Given the description of an element on the screen output the (x, y) to click on. 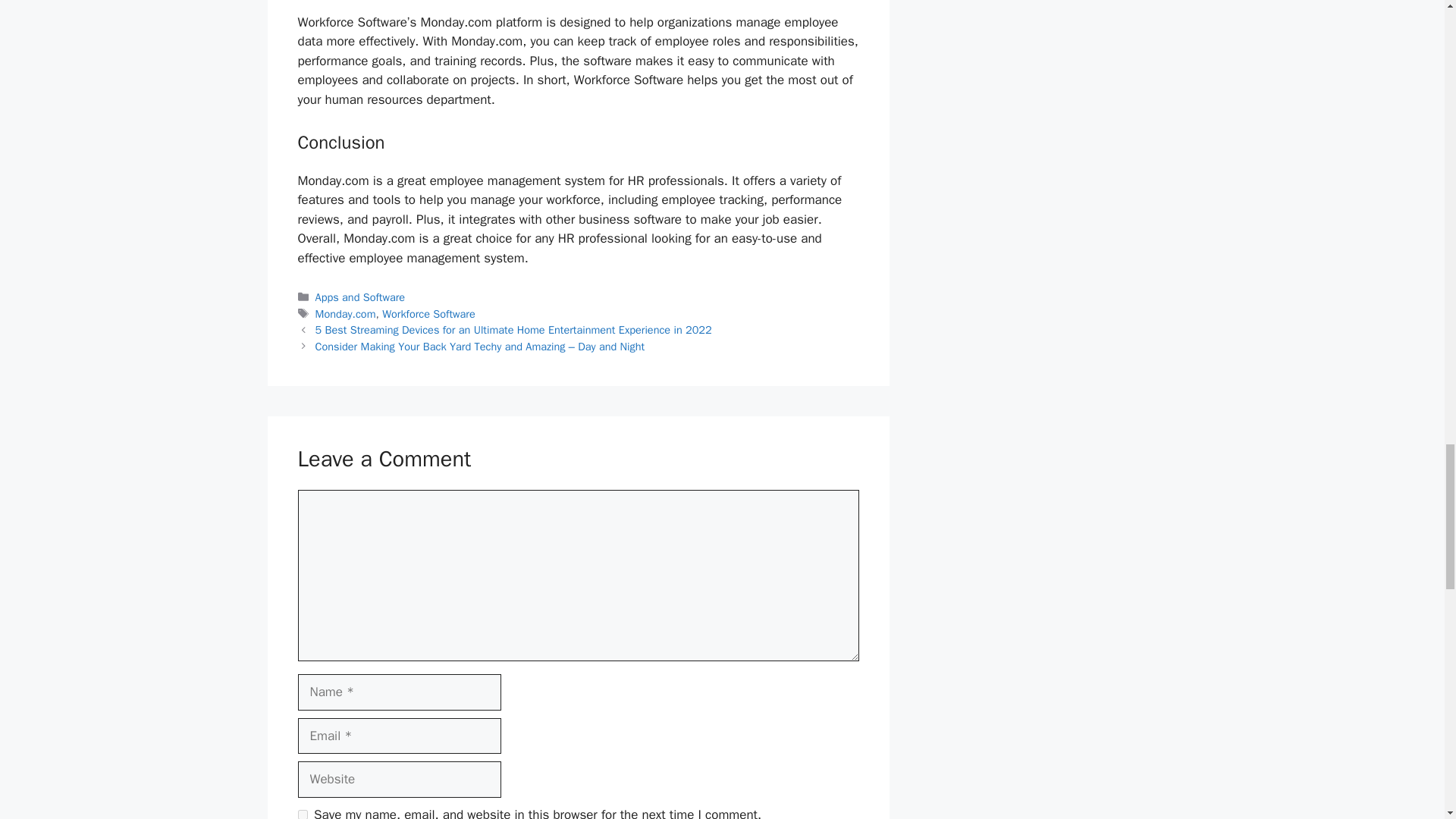
Apps and Software (360, 296)
Monday.com (345, 314)
Workforce Software (428, 314)
yes (302, 814)
